Given the description of an element on the screen output the (x, y) to click on. 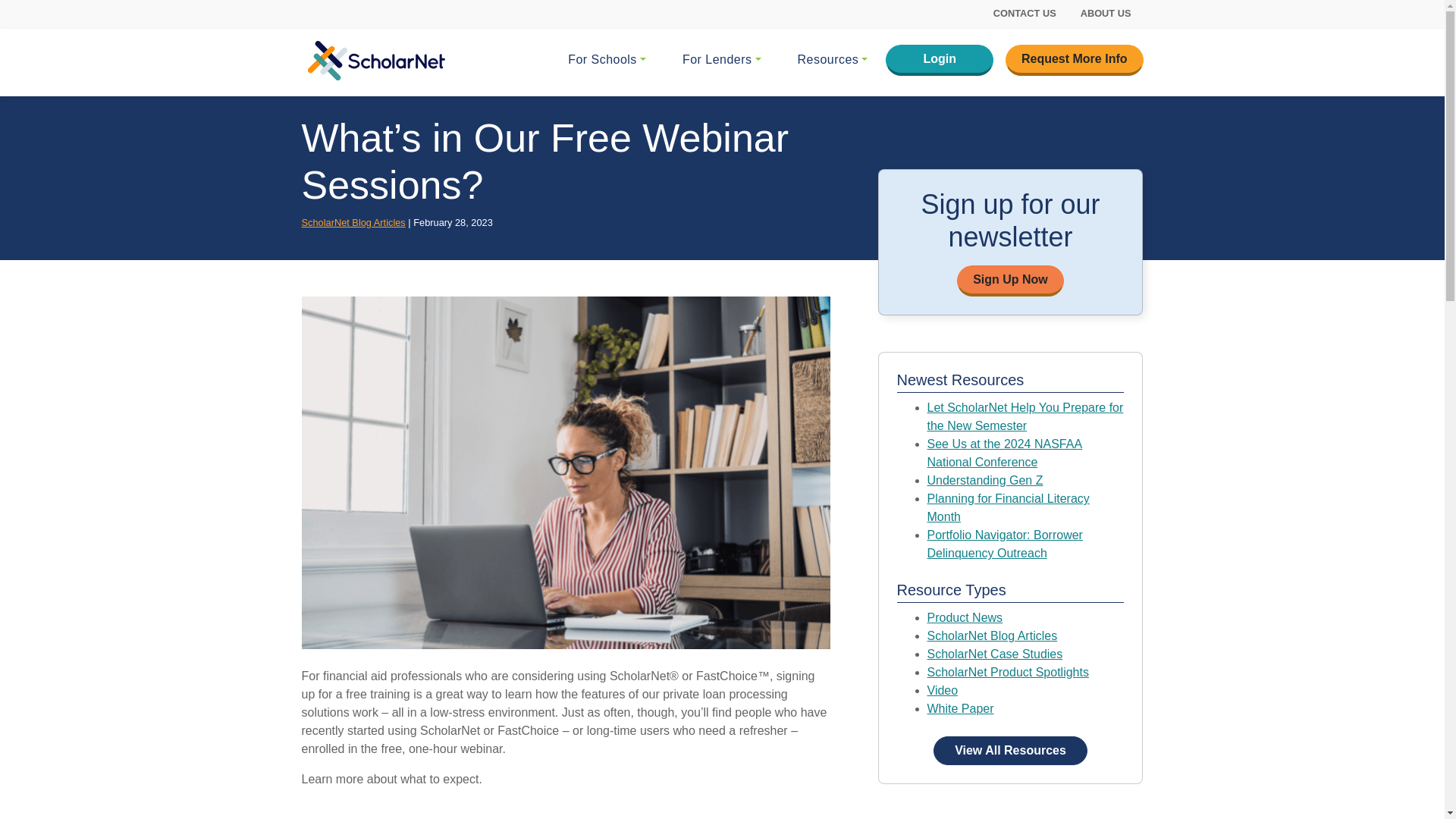
ABOUT US (1105, 12)
Planning for Financial Literacy Month (1007, 507)
Let ScholarNet Help You Prepare for the New Semester (1024, 416)
ScholarNet Blog Articles (353, 222)
ScholarNet Blog Articles (991, 635)
ScholarNet Product Spotlights (1006, 671)
White Paper (959, 707)
Product News (964, 617)
For Schools (607, 60)
CONTACT US (1024, 12)
Request More Info (1074, 60)
Login (938, 60)
See Us at the 2024 NASFAA National Conference (1003, 452)
For Lenders (721, 60)
Resources (833, 60)
